Given the description of an element on the screen output the (x, y) to click on. 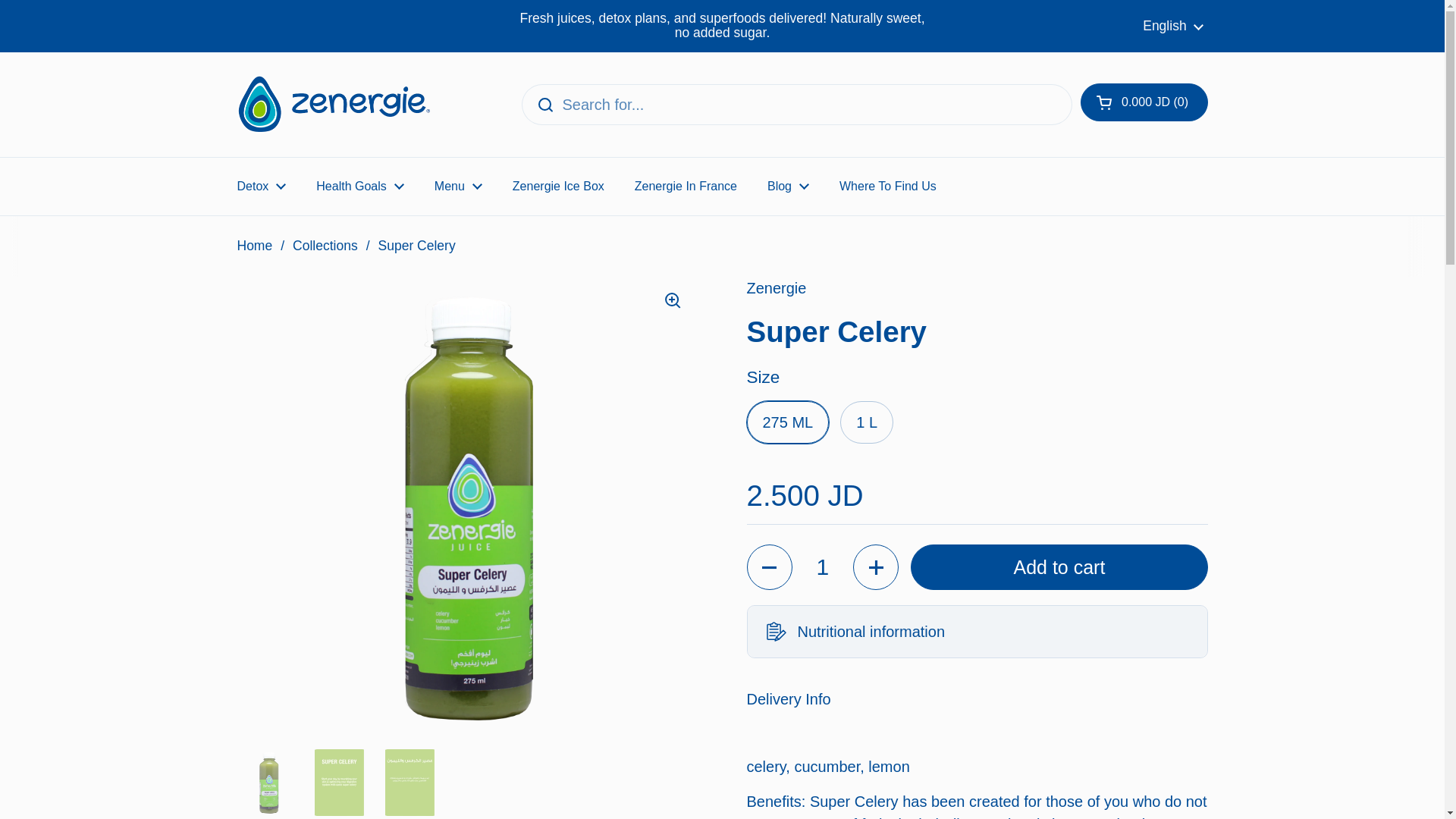
Where To Find Us (888, 185)
Zenergie In France (686, 185)
Blog (788, 185)
Detox (261, 185)
Zenergie (332, 103)
English (1173, 25)
Detox (261, 185)
1 (822, 566)
Open cart (1144, 102)
